Given the description of an element on the screen output the (x, y) to click on. 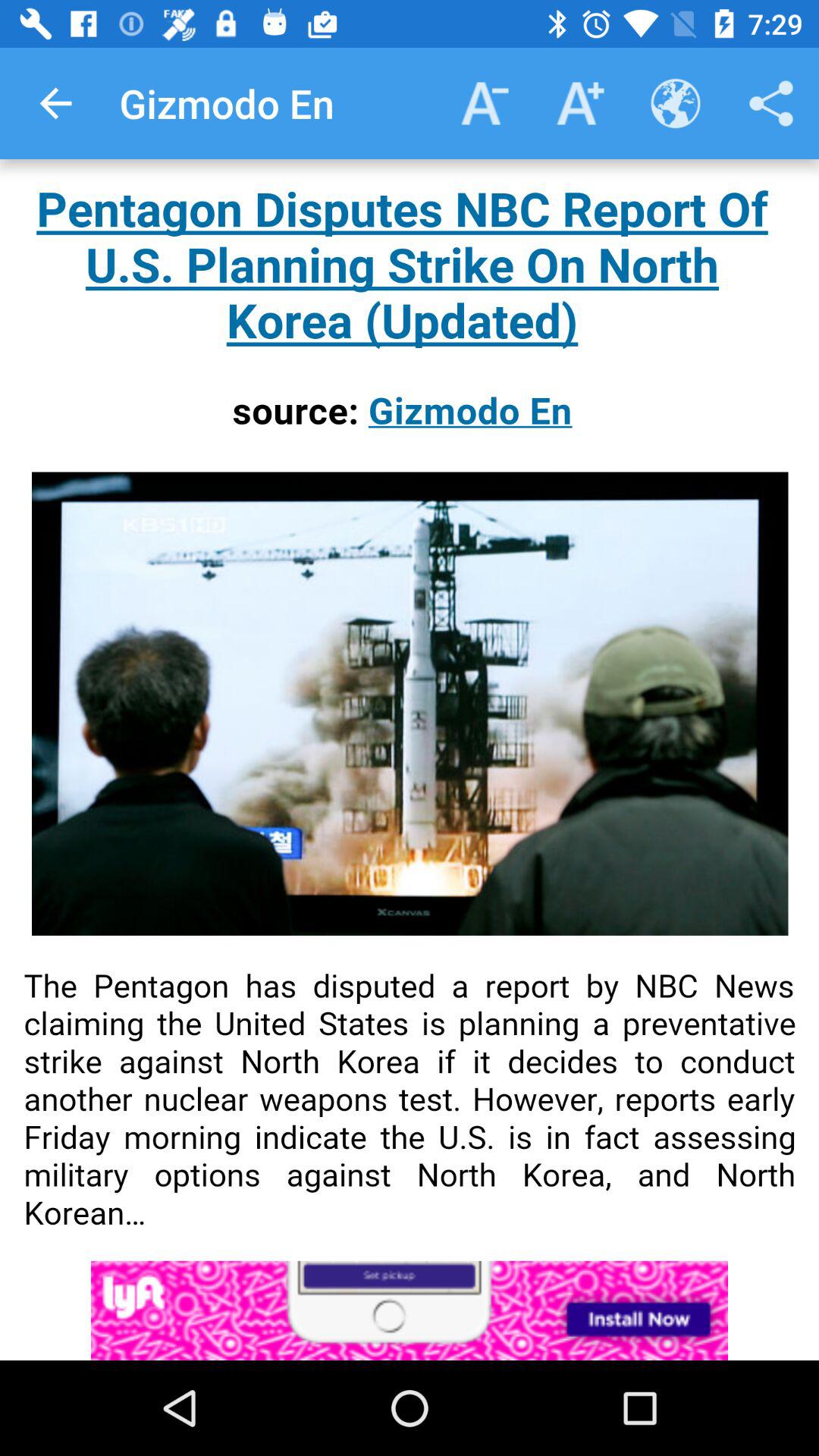
open advertisement (409, 1310)
